Given the description of an element on the screen output the (x, y) to click on. 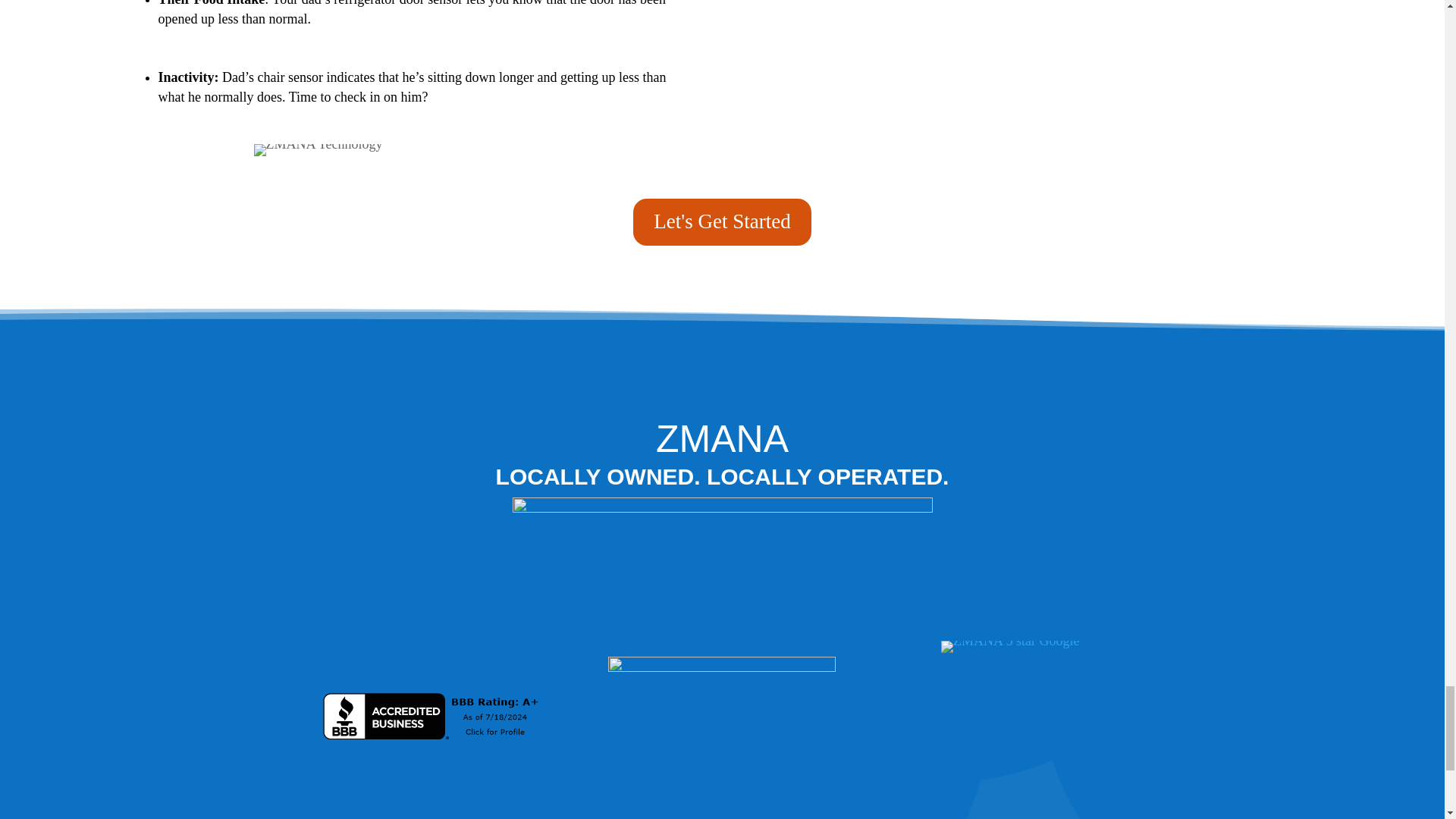
google 5 (1009, 646)
Smart Watch ZMANA (317, 150)
